Given the description of an element on the screen output the (x, y) to click on. 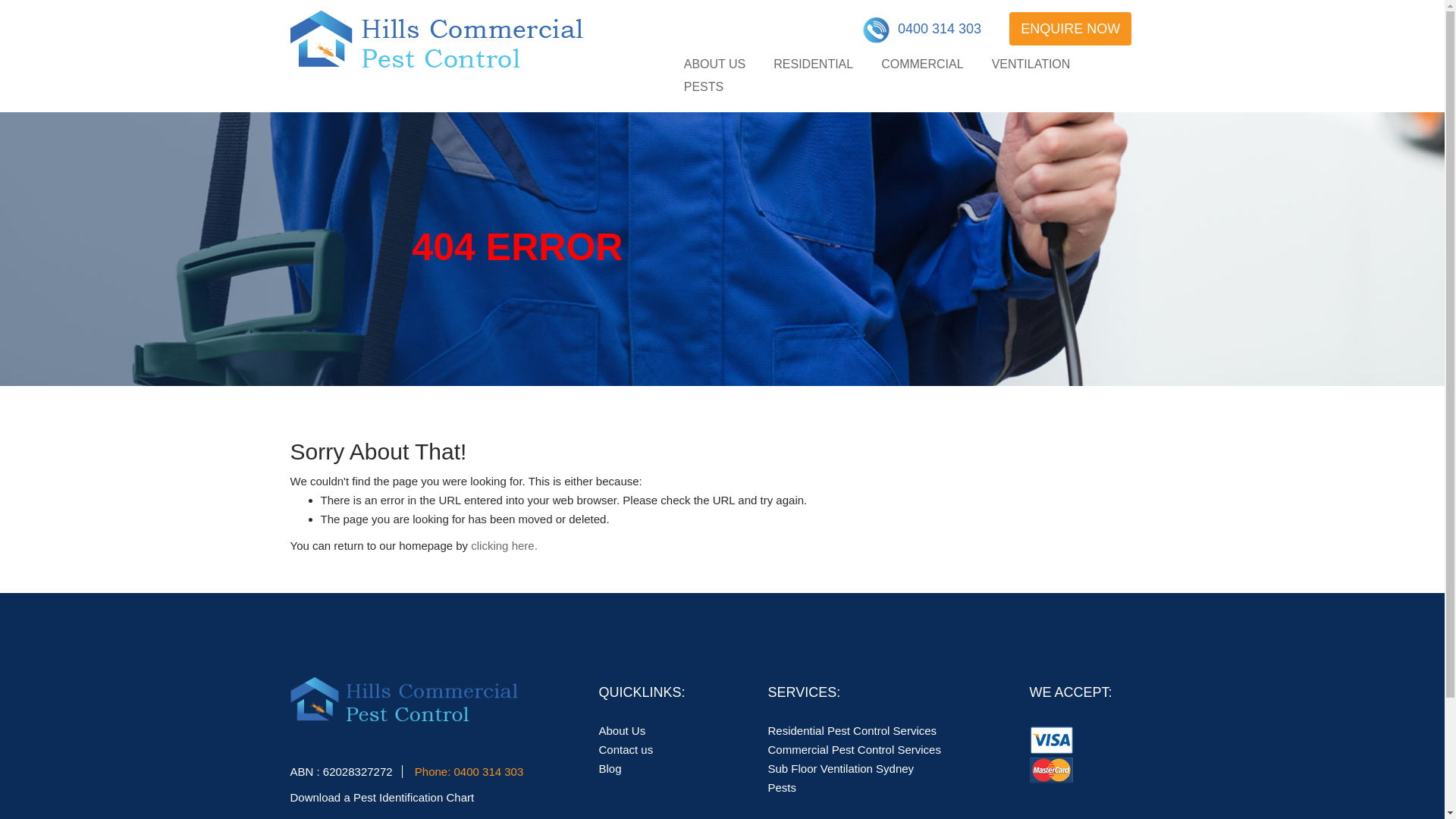
0400 314 303 Element type: text (921, 31)
Commercial Pest Control Services Element type: text (853, 749)
About Us Element type: text (622, 730)
ABOUT US Element type: text (715, 64)
Sub Floor Ventilation Sydney Element type: text (840, 768)
Pests Element type: text (781, 787)
VENTILATION Element type: text (1030, 64)
Residential Pest Control Services Element type: text (851, 730)
Blog Element type: text (610, 768)
Download a Pest Identification Chart Element type: text (381, 789)
clicking here. Element type: text (503, 545)
COMMERCIAL Element type: text (922, 64)
PESTS Element type: text (703, 86)
ENQUIRE NOW Element type: text (1070, 28)
0400 314 303 Element type: text (489, 771)
RESIDENTIAL Element type: text (813, 64)
Contact us Element type: text (626, 749)
